Given the description of an element on the screen output the (x, y) to click on. 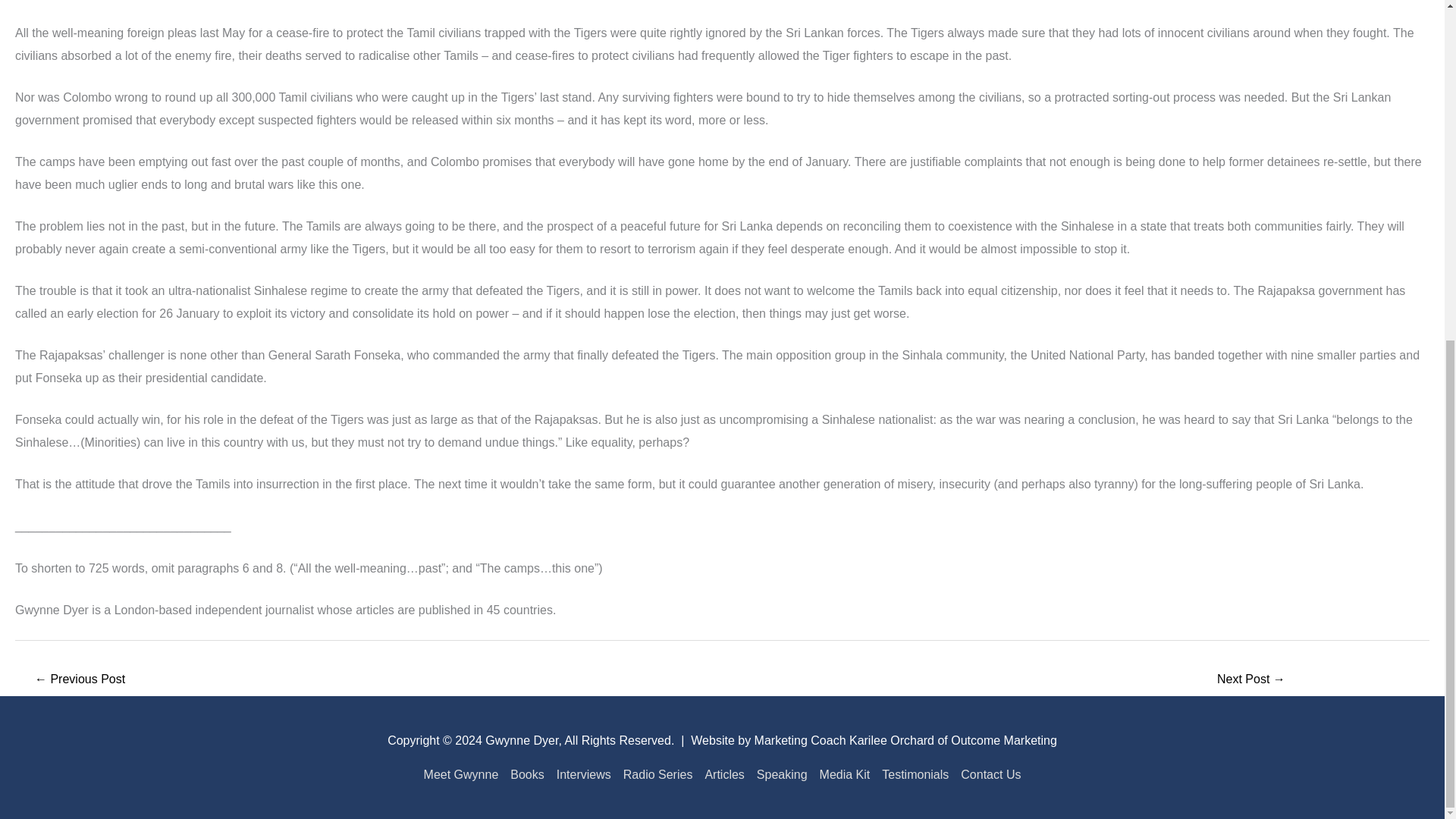
Speaking (782, 774)
Contact Us (987, 774)
Not the Noughties (1251, 680)
Articles (723, 774)
Books (526, 774)
Radio Series (657, 774)
Media Kit (844, 774)
Interviews (583, 774)
Testimonials (915, 774)
Copenhagen Aftermath (79, 680)
Meet Gwynne (464, 774)
